Given the description of an element on the screen output the (x, y) to click on. 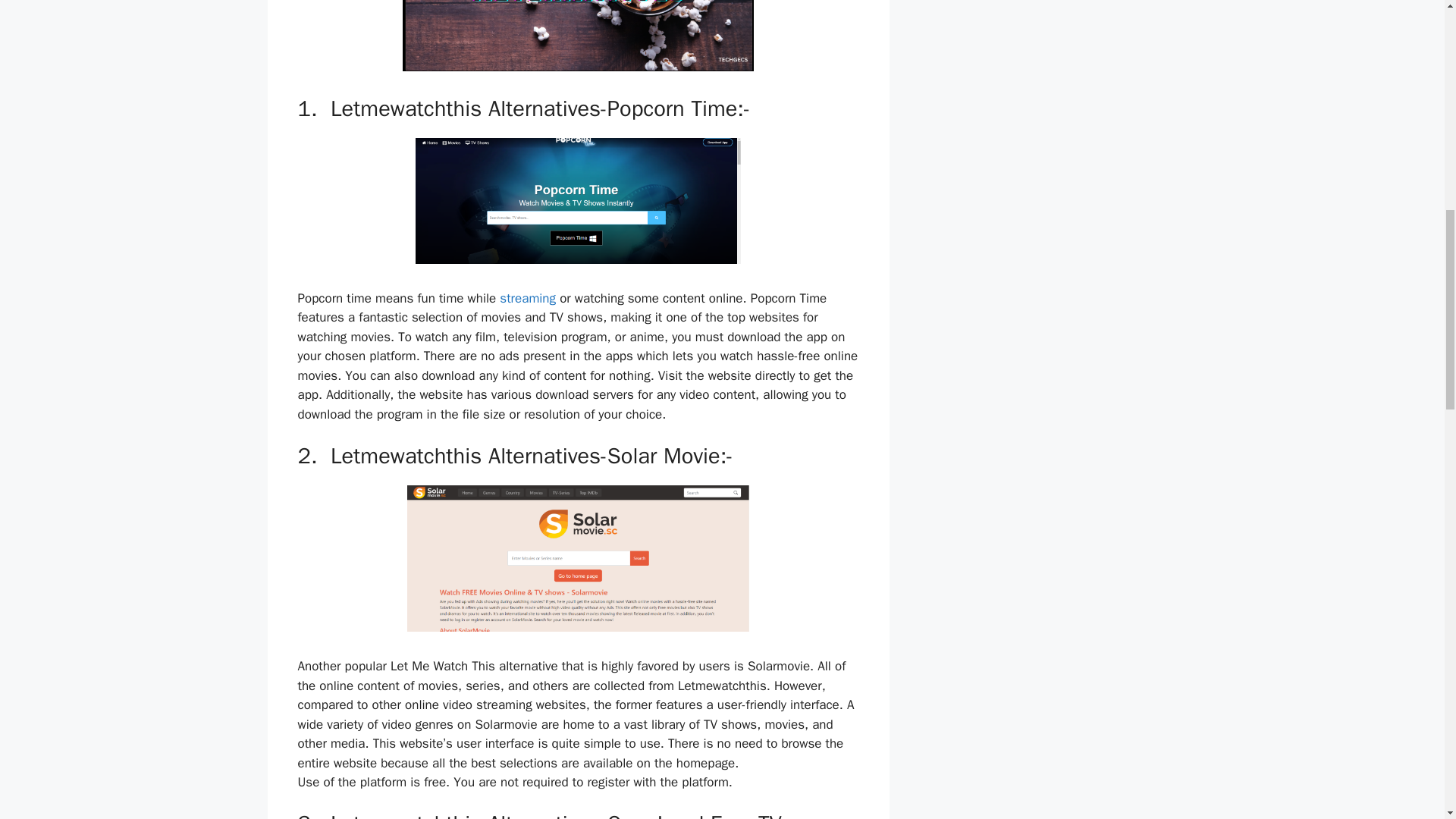
streaming (527, 298)
